Given the description of an element on the screen output the (x, y) to click on. 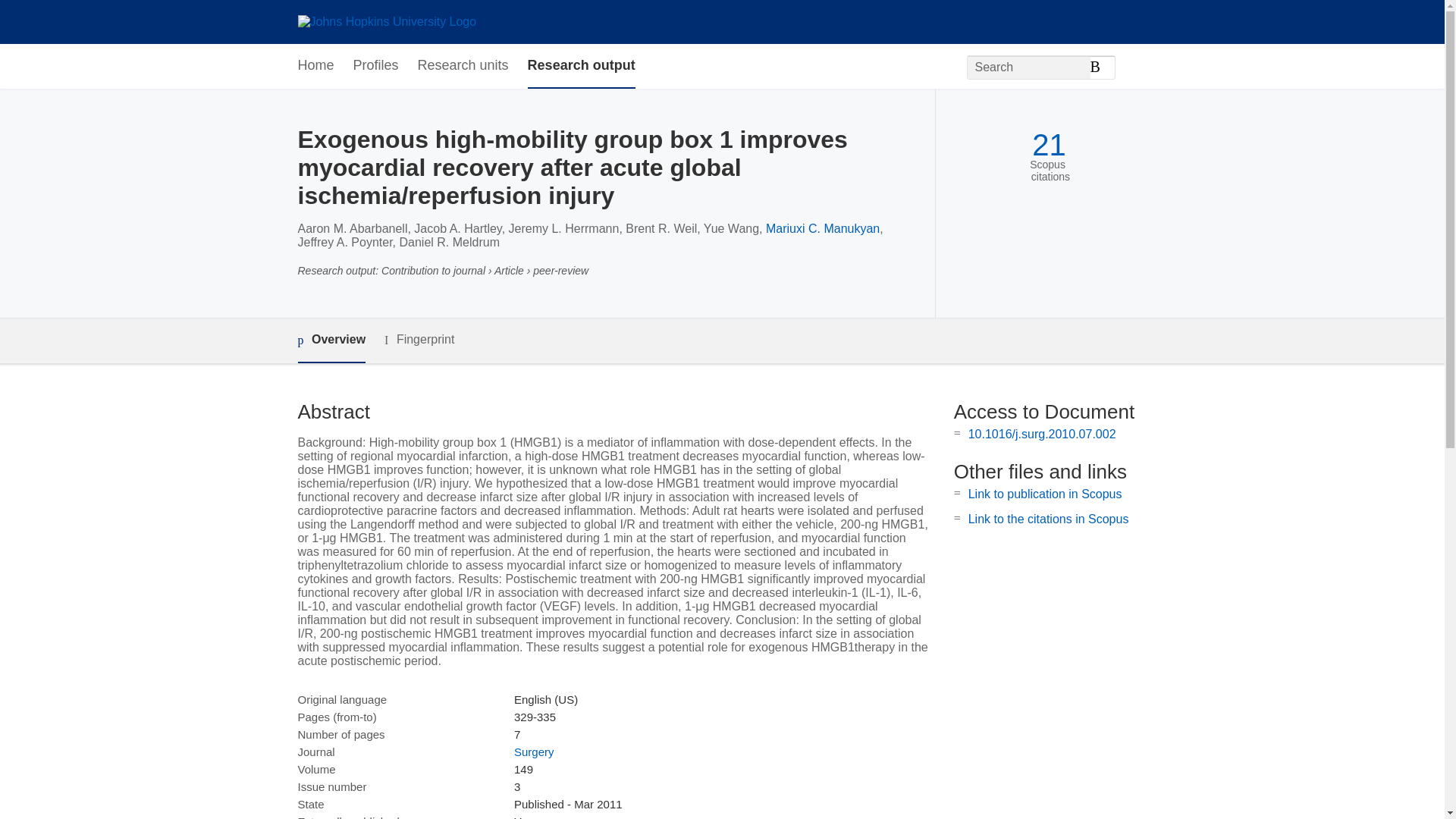
Link to publication in Scopus (1045, 493)
Johns Hopkins University Home (386, 21)
Fingerprint (419, 339)
Link to the citations in Scopus (1048, 518)
Research units (462, 66)
Research output (580, 66)
21 (1048, 144)
Mariuxi C. Manukyan (822, 228)
Surgery (533, 751)
